Given the description of an element on the screen output the (x, y) to click on. 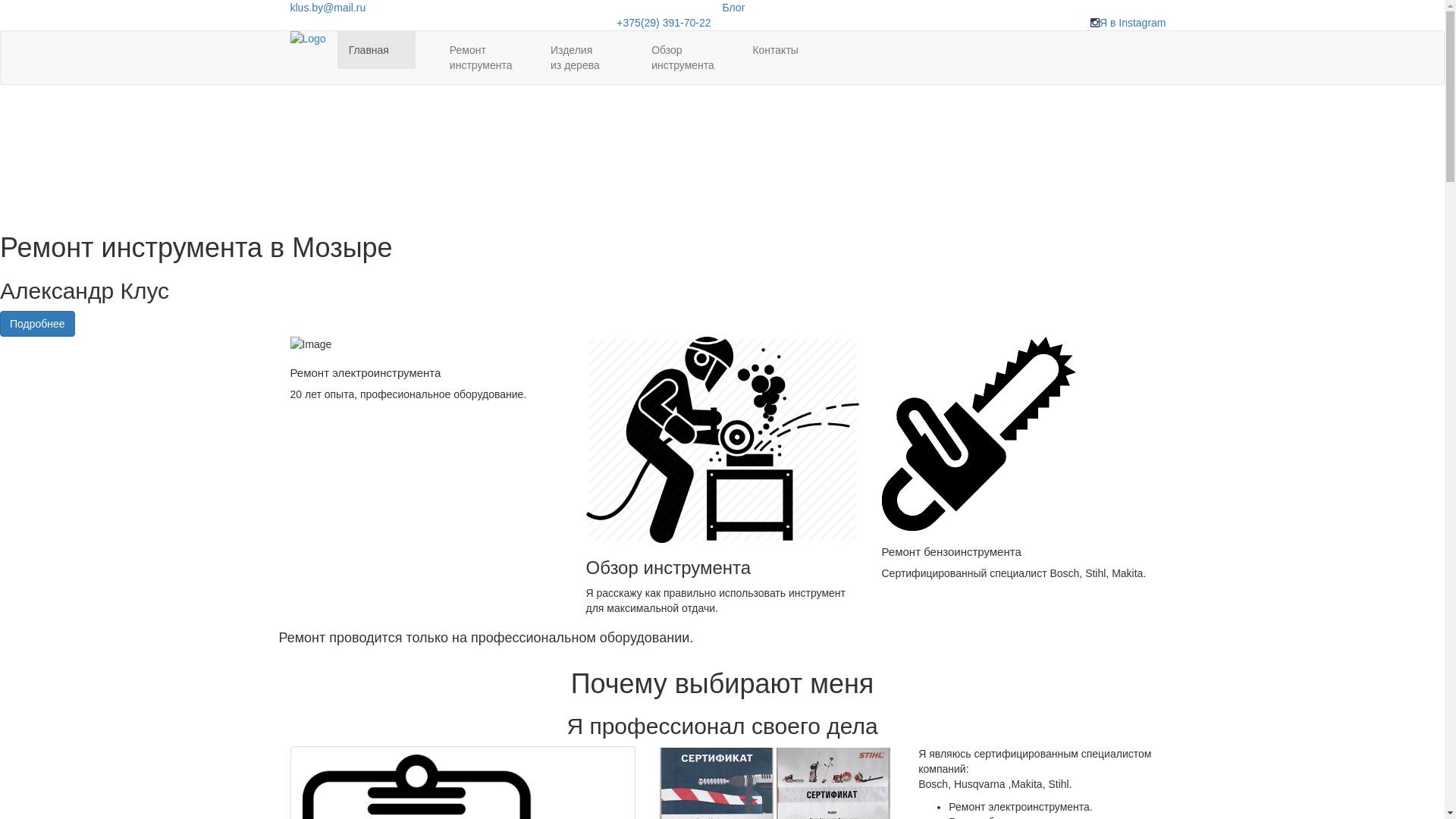
klus.by@mail.ru Element type: text (327, 7)
+375(29) 391-70-22 Element type: text (663, 22)
